Given the description of an element on the screen output the (x, y) to click on. 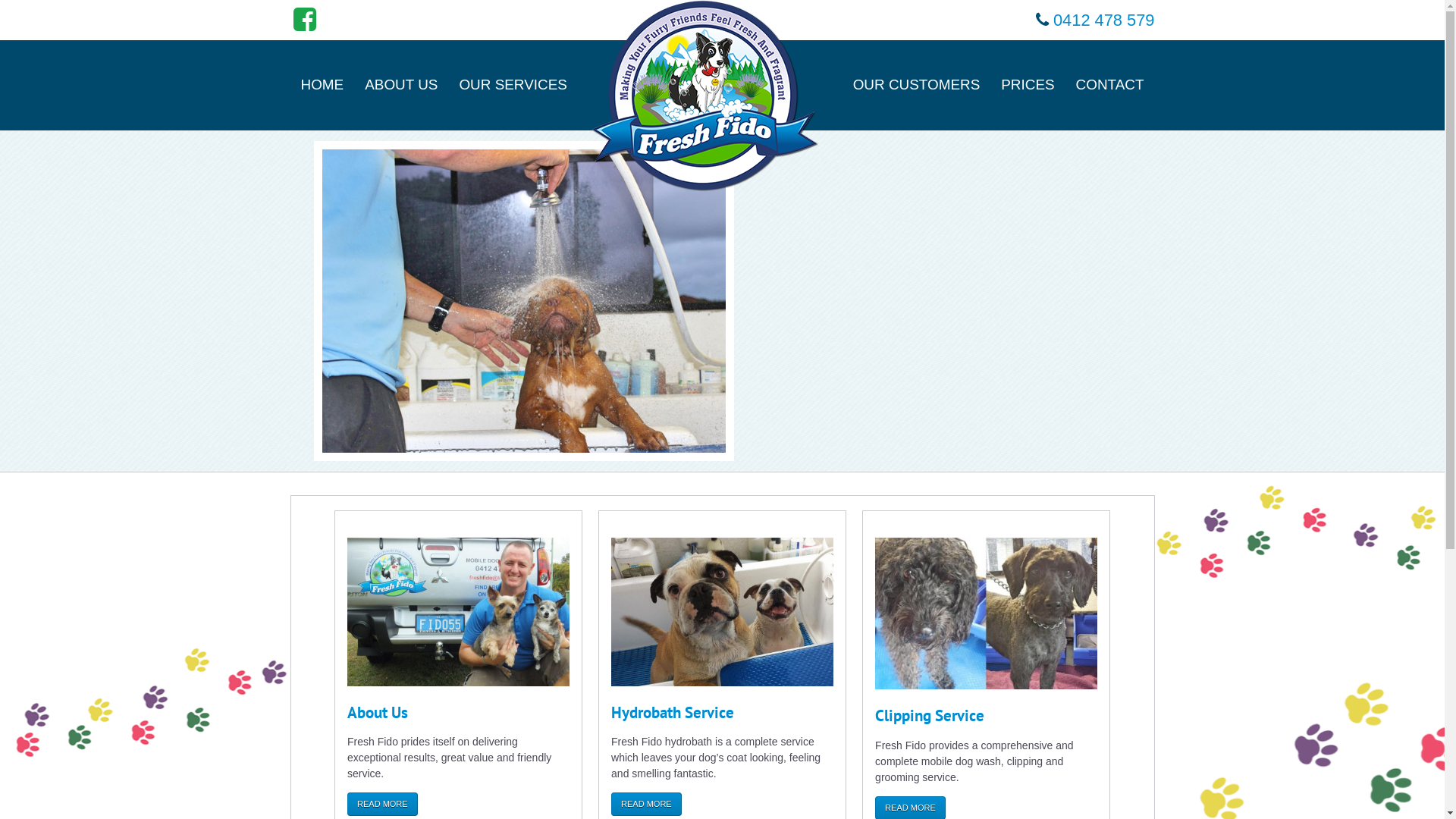
Fresh Fido Facebook Element type: hover (304, 19)
About Us Element type: text (377, 712)
READ MORE Element type: text (646, 803)
HOME Element type: text (321, 84)
ABOUT US Element type: text (400, 84)
PRICES Element type: text (1027, 84)
CONTACT Element type: text (1110, 84)
OUR SERVICES Element type: text (512, 84)
0412 478 579 Element type: text (1103, 19)
Fresh Fido Element type: hover (705, 96)
Clipping Service Element type: text (929, 715)
Hydrobath Service Element type: text (672, 712)
READ MORE Element type: text (382, 803)
OUR CUSTOMERS Element type: text (916, 84)
